Given the description of an element on the screen output the (x, y) to click on. 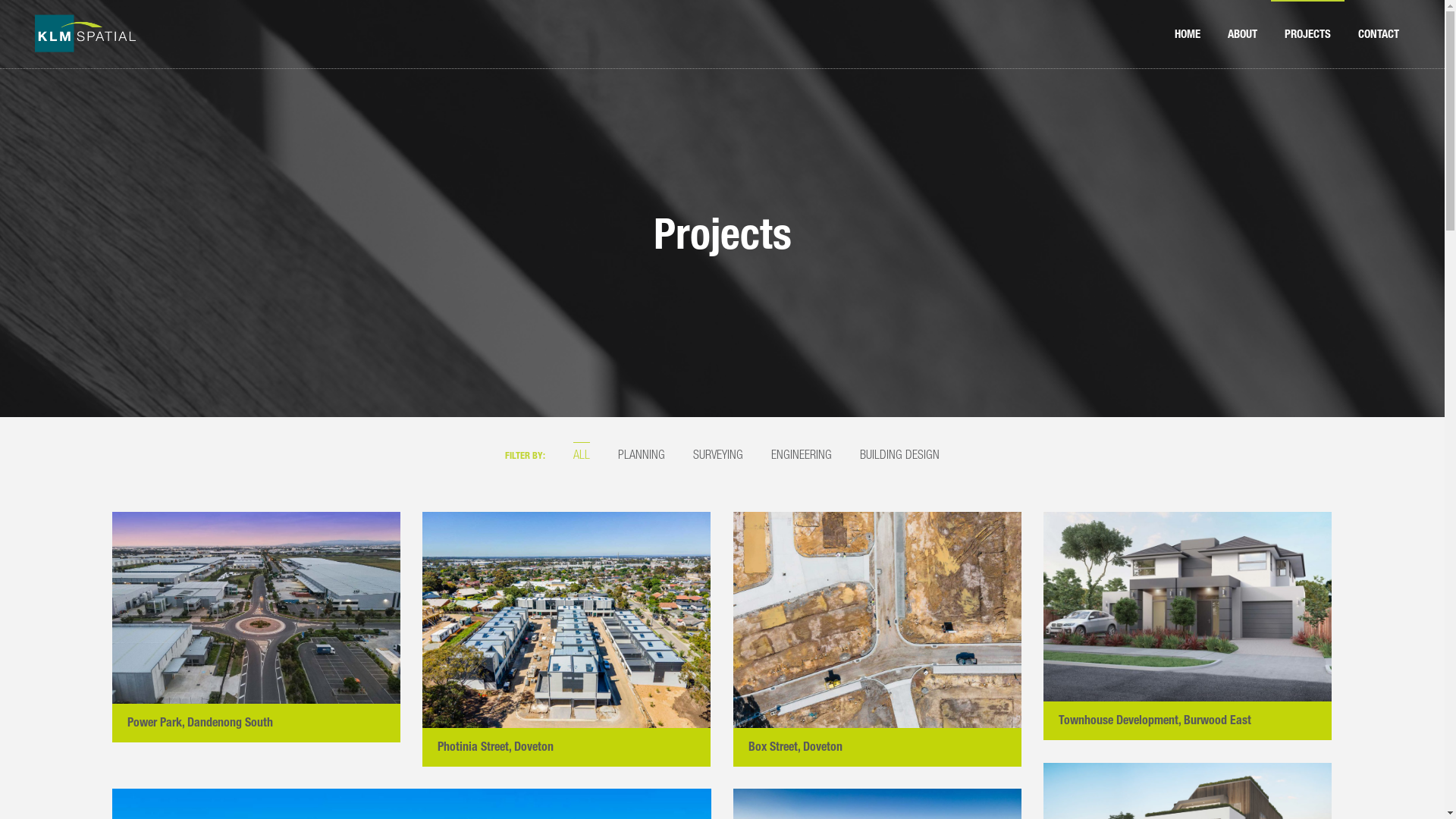
BUILDING DESIGN Element type: text (899, 453)
Skip to content Element type: text (0, 0)
ENGINEERING Element type: text (801, 453)
Box Street, Doveton Element type: text (795, 746)
PLANNING Element type: text (641, 453)
Power Park, Dandenong South Element type: text (200, 722)
PROJECTS Element type: text (1307, 34)
HOME Element type: text (1187, 34)
Townhouse Development, Burwood East Element type: text (1154, 719)
CONTACT Element type: text (1378, 34)
ALL Element type: text (581, 453)
SURVEYING Element type: text (718, 453)
ABOUT Element type: text (1242, 34)
Photinia Street, Doveton Element type: text (495, 746)
